Given the description of an element on the screen output the (x, y) to click on. 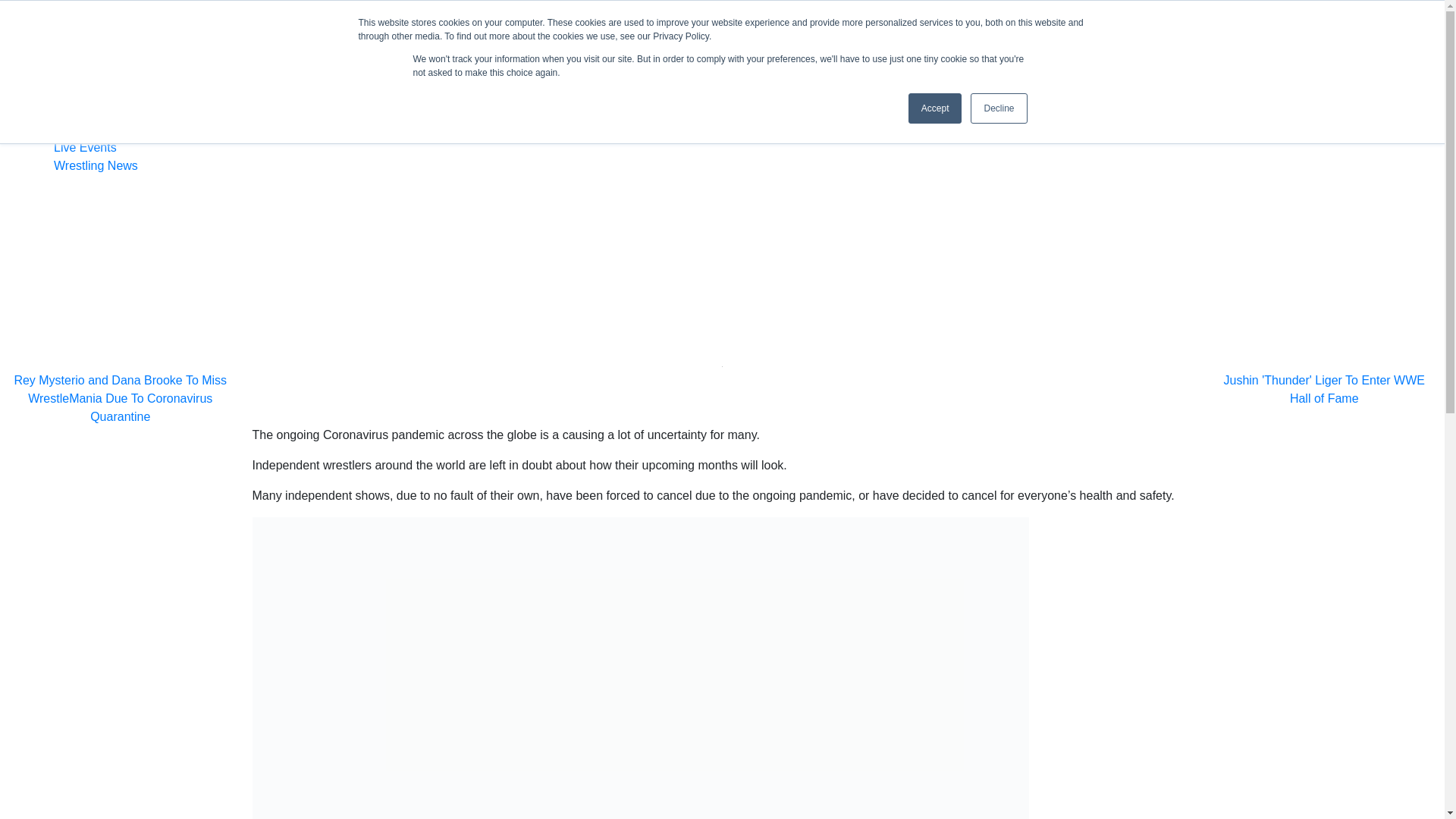
Live Events (84, 80)
Accept (935, 108)
United Kingdom (1323, 382)
WrestleMania 41 Travel Packages (427, 20)
Wrestling News (145, 128)
Wrestling News (95, 164)
WrestleMania 41 Travel Packages (95, 98)
Decline (145, 62)
